Given the description of an element on the screen output the (x, y) to click on. 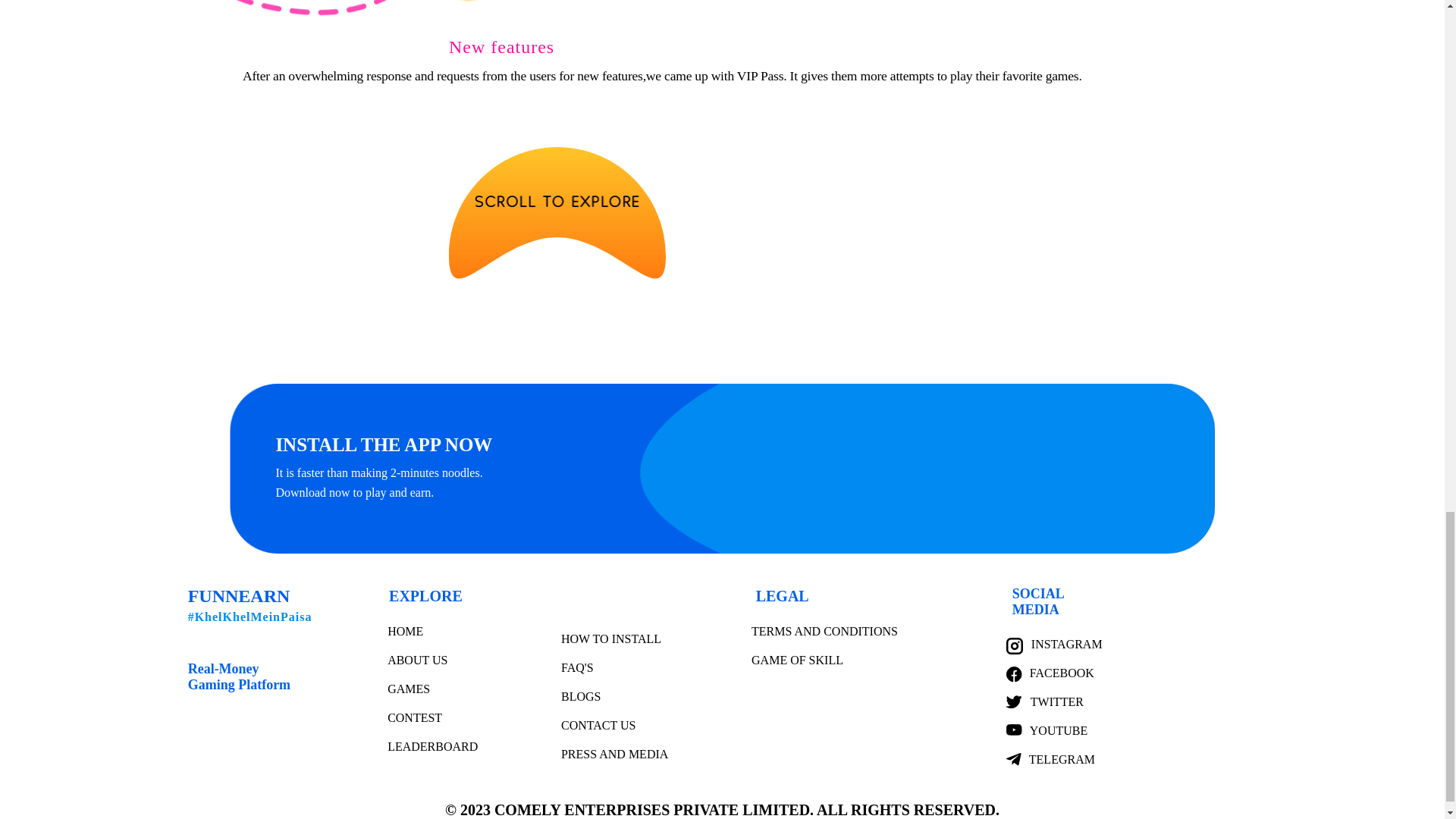
TELEGRAM (1061, 758)
INSTAGRAM (1066, 644)
YOUTUBE (1058, 730)
CONTEST (414, 717)
FACEBOOK (1061, 672)
HOME (405, 631)
HOW TO INSTALL (610, 638)
TWITTER (1056, 701)
GAMES (408, 688)
FAQ'S (577, 667)
